Given the description of an element on the screen output the (x, y) to click on. 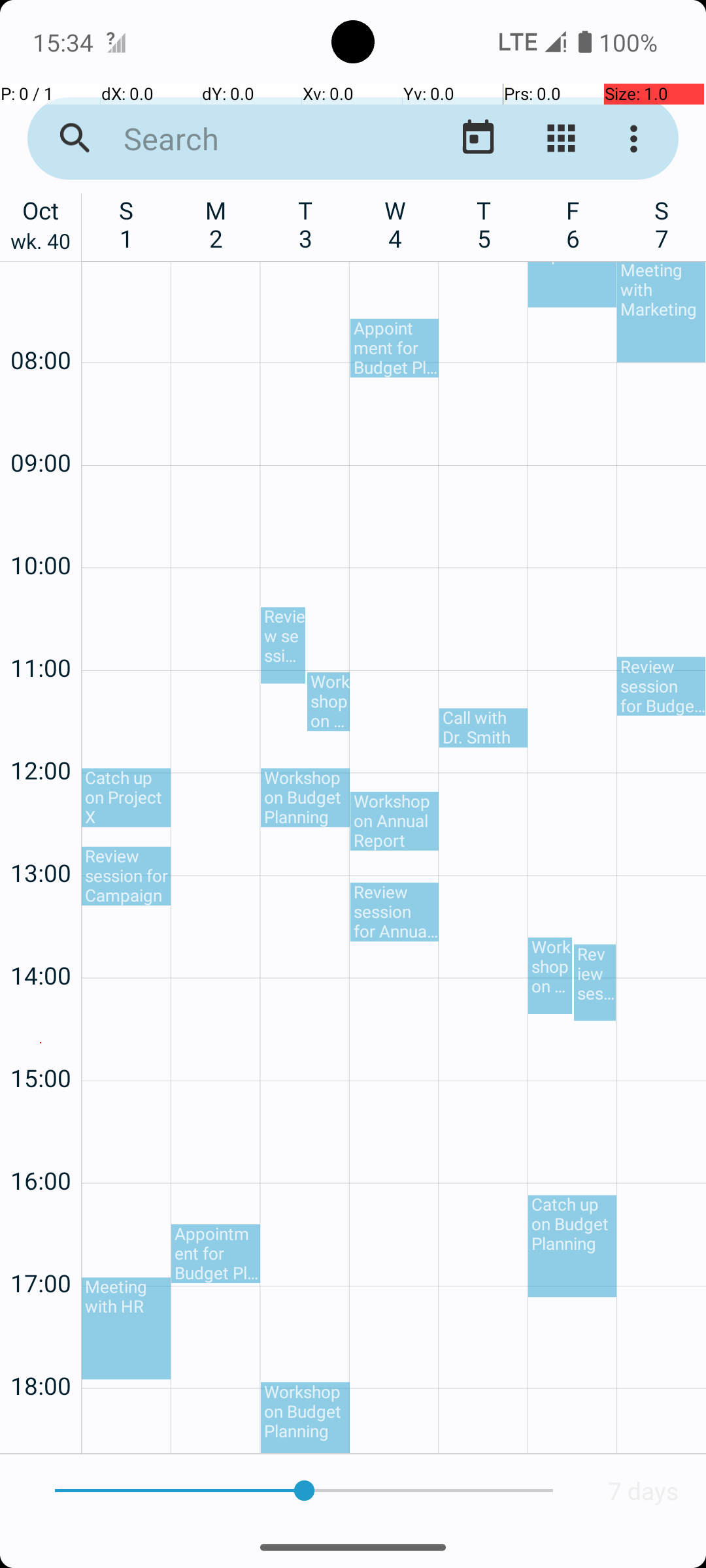
wk. 40 Element type: android.widget.TextView (40, 243)
S
1 Element type: android.widget.TextView (126, 223)
M
2 Element type: android.widget.TextView (215, 223)
T
3 Element type: android.widget.TextView (305, 223)
W
4 Element type: android.widget.TextView (394, 223)
T
5 Element type: android.widget.TextView (483, 223)
F
6 Element type: android.widget.TextView (572, 223)
S
7 Element type: android.widget.TextView (661, 223)
